Given the description of an element on the screen output the (x, y) to click on. 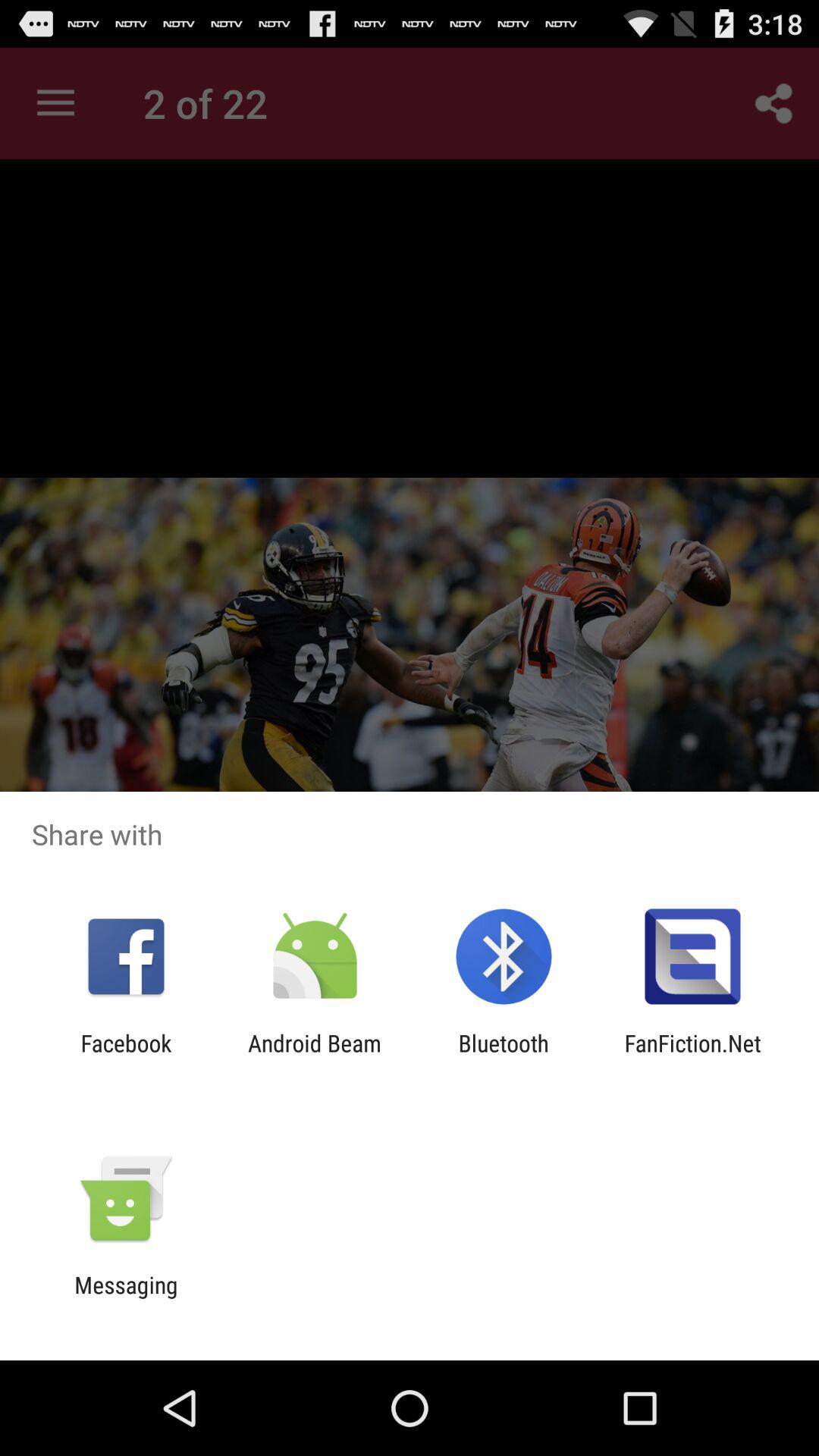
turn on the item next to fanfiction.net (503, 1056)
